Given the description of an element on the screen output the (x, y) to click on. 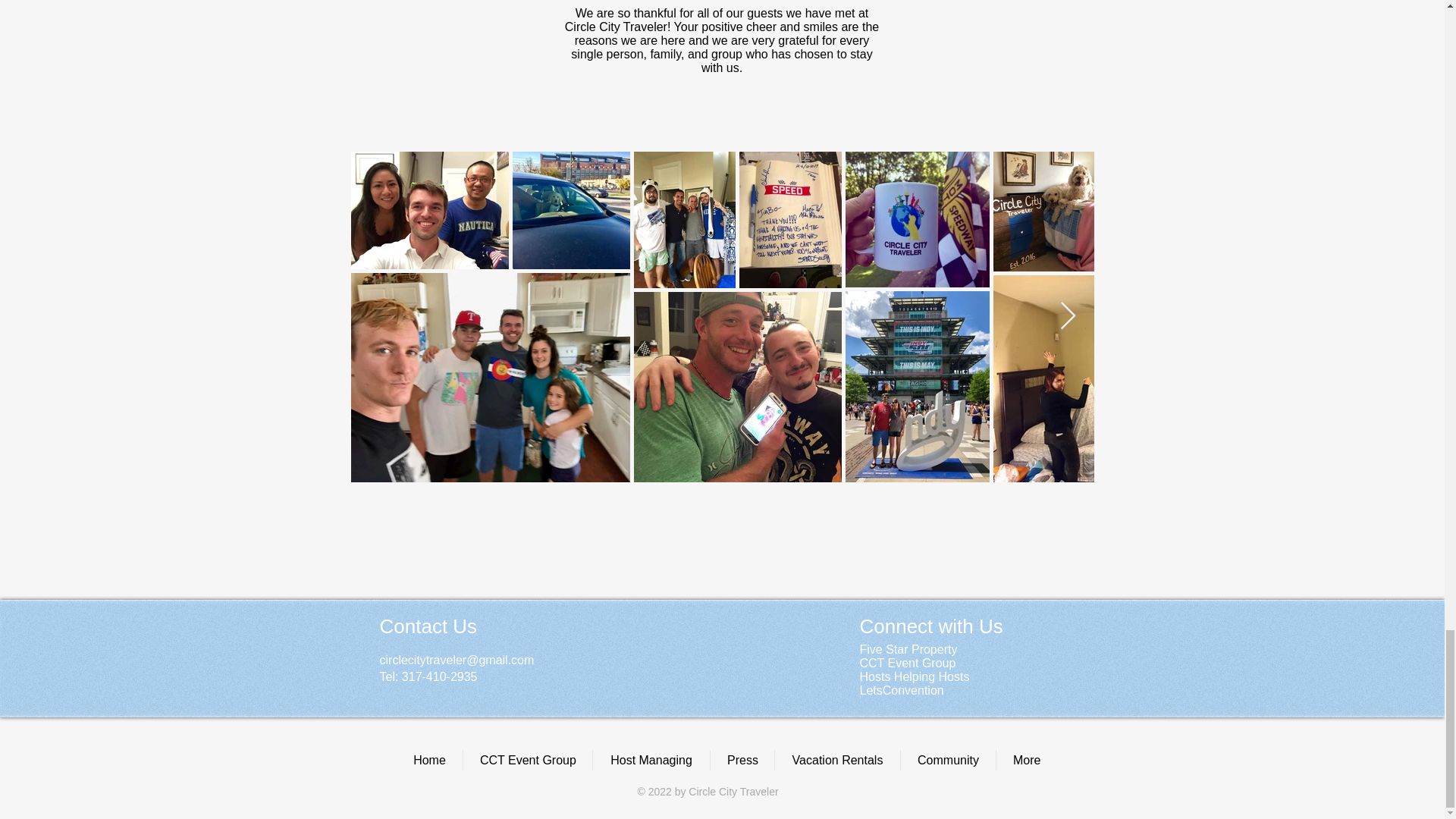
Community (948, 760)
Vacation Rentals (836, 760)
Host Managing (651, 760)
Press (742, 760)
Contact Us (427, 626)
Home (429, 760)
CCT Event Group (527, 760)
